Given the description of an element on the screen output the (x, y) to click on. 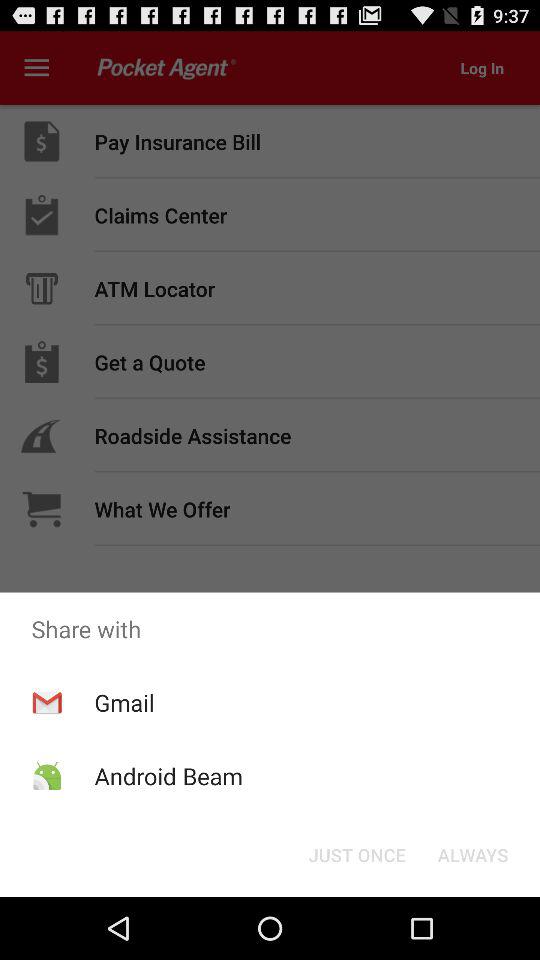
choose always button (472, 854)
